Given the description of an element on the screen output the (x, y) to click on. 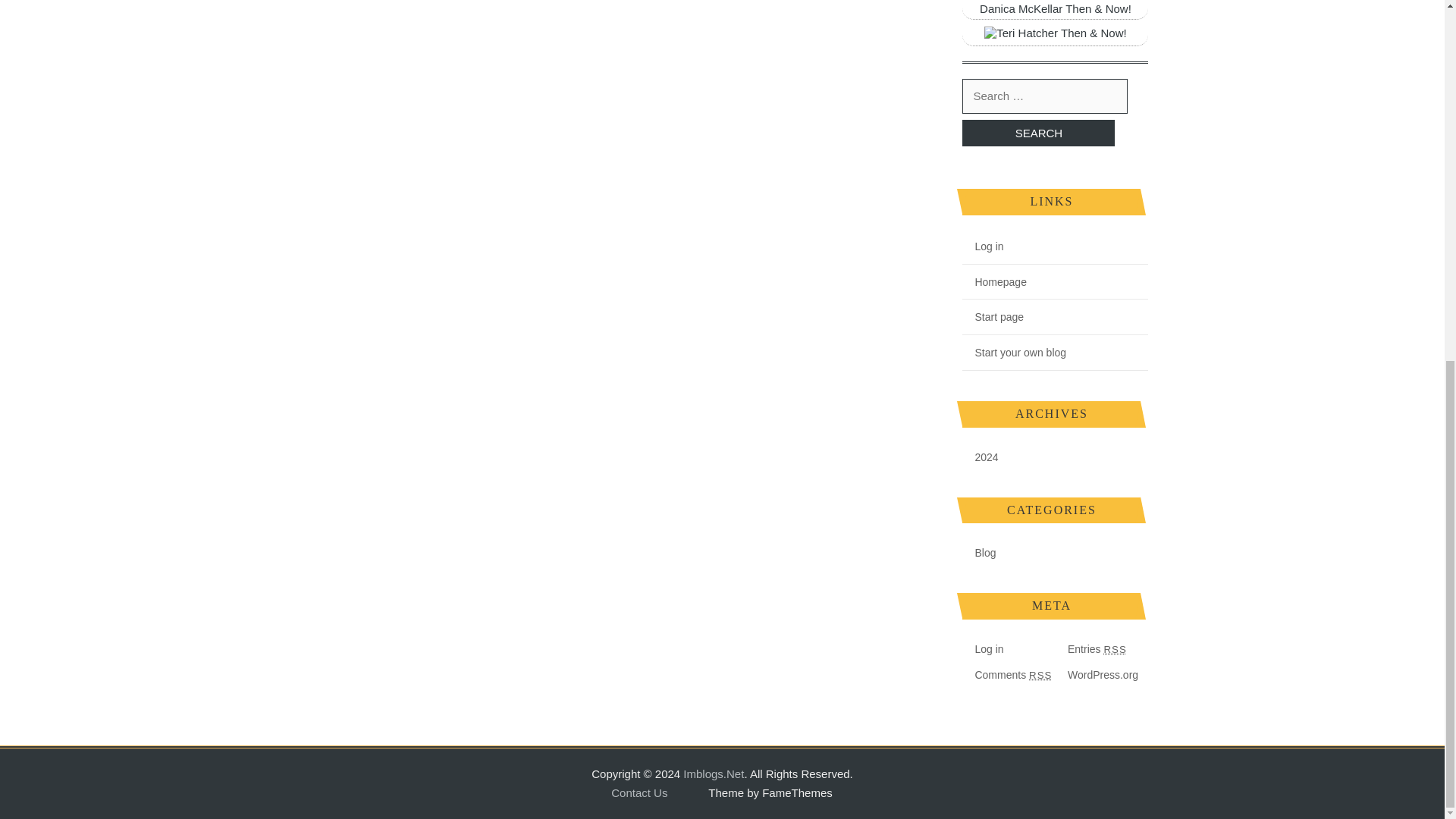
Log in (982, 648)
WordPress.org (1096, 674)
Imblogs.Net (713, 774)
Start your own blog (1013, 352)
Comments RSS (1006, 674)
Search (1038, 132)
Really Simple Syndication (1114, 649)
Start page (992, 316)
Search (1038, 132)
Really Simple Syndication (1040, 674)
Search (1038, 132)
2024 (979, 457)
Contact Us (638, 793)
Log in (982, 246)
Homepage (994, 282)
